Given the description of an element on the screen output the (x, y) to click on. 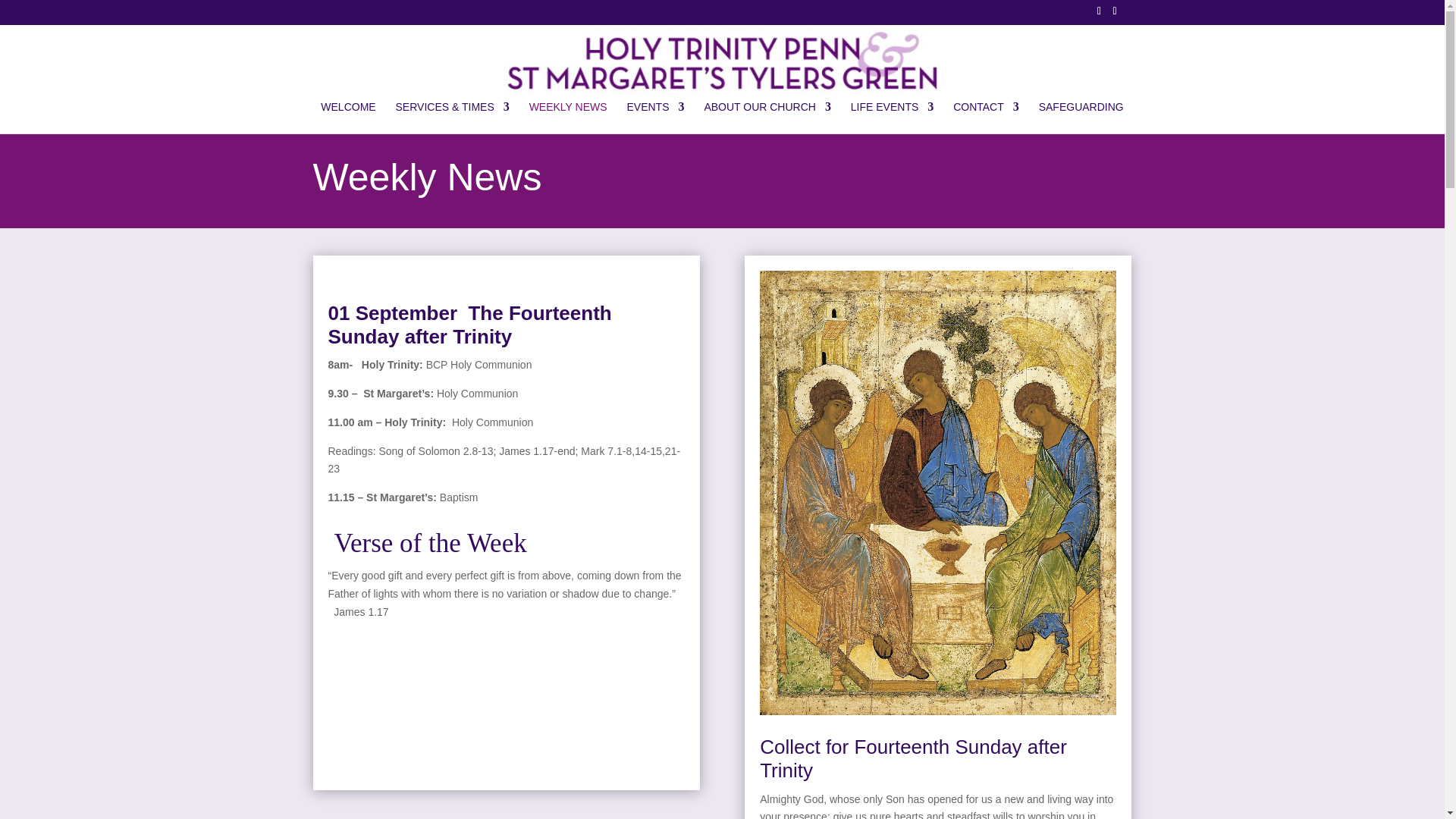
SAFEGUARDING (1081, 117)
WELCOME (347, 117)
WEEKLY NEWS (568, 117)
ABOUT OUR CHURCH (767, 117)
CONTACT (986, 117)
EVENTS (655, 117)
LIFE EVENTS (891, 117)
